Given the description of an element on the screen output the (x, y) to click on. 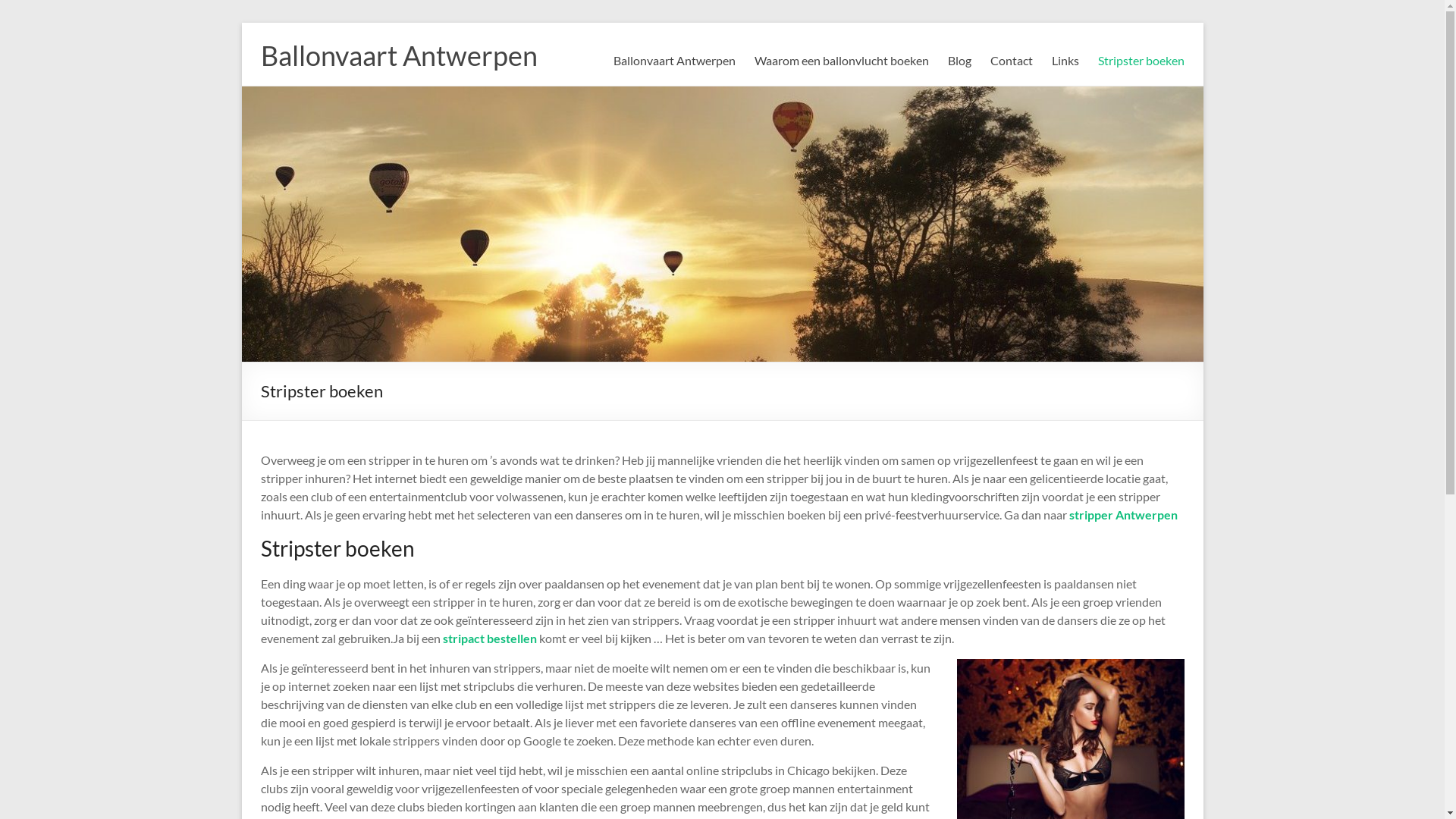
stripact bestellen Element type: text (489, 637)
Contact Element type: text (1011, 60)
Waarom een ballonvlucht boeken Element type: text (840, 60)
Links Element type: text (1064, 60)
Blog Element type: text (959, 60)
Stripster boeken Element type: text (1141, 60)
Skip to content Element type: text (241, 21)
stripper Antwerpen Element type: text (1123, 514)
Ballonvaart Antwerpen Element type: text (398, 55)
Ballonvaart Antwerpen Element type: text (673, 60)
